Given the description of an element on the screen output the (x, y) to click on. 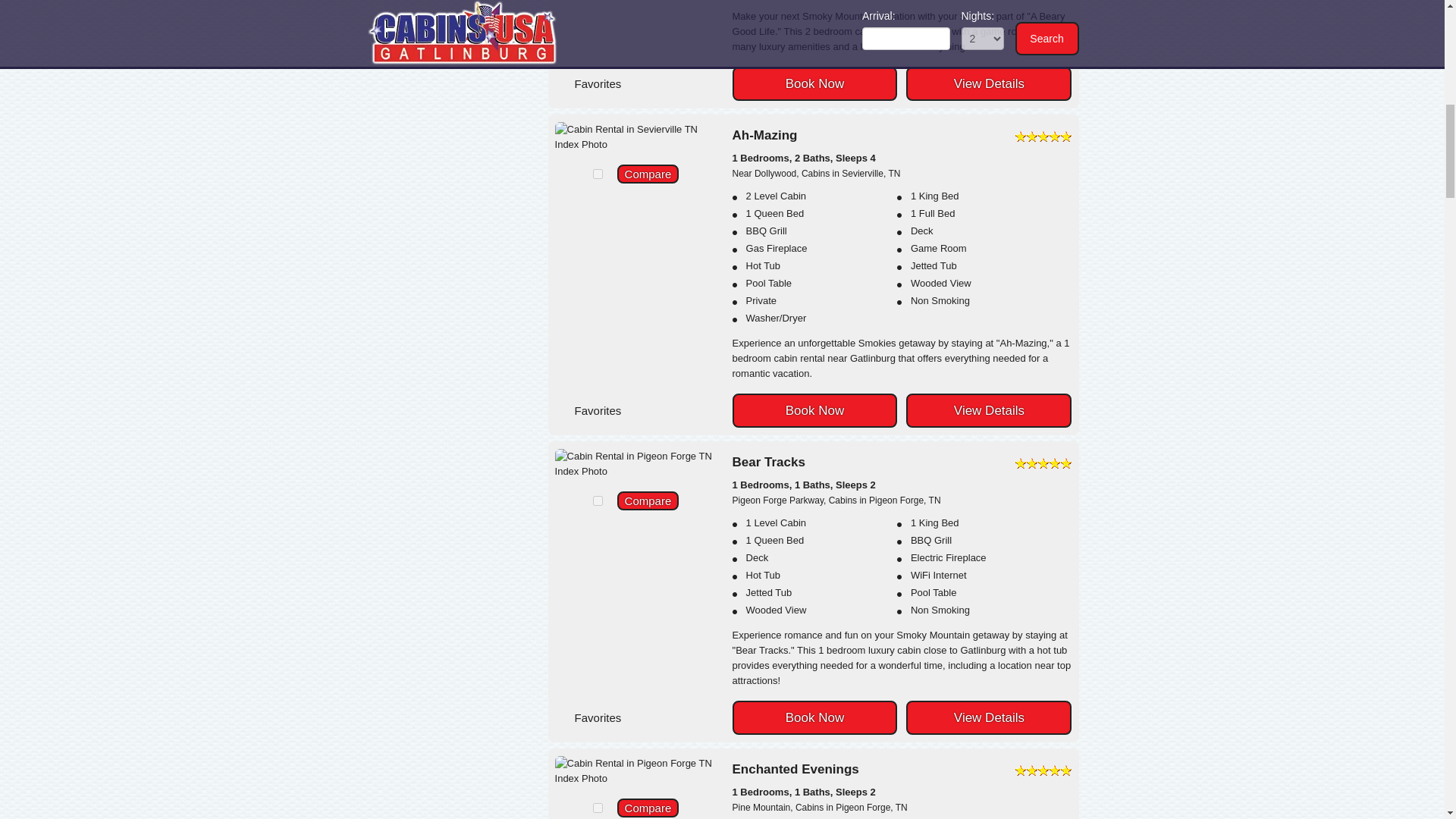
View Details (988, 83)
718 (597, 808)
Compare (648, 500)
Compare (648, 173)
Compare (648, 173)
Book Now (815, 717)
Book Now (815, 83)
Book Now (815, 410)
View Details (988, 717)
Ah-Mazing (901, 134)
Favorites (619, 81)
Compare (648, 500)
484 (597, 501)
Compare (648, 807)
Bear Tracks (901, 462)
